Given the description of an element on the screen output the (x, y) to click on. 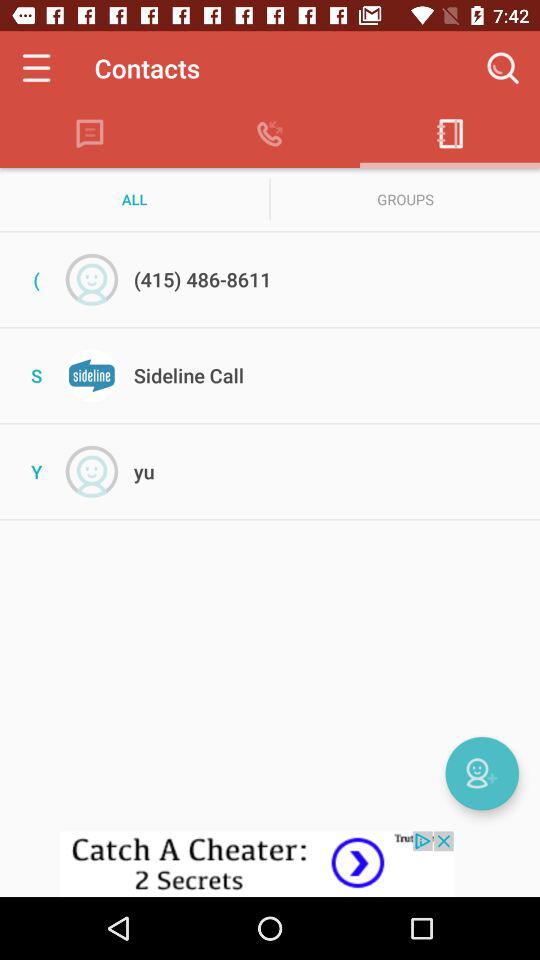
add new contact option (482, 773)
